Given the description of an element on the screen output the (x, y) to click on. 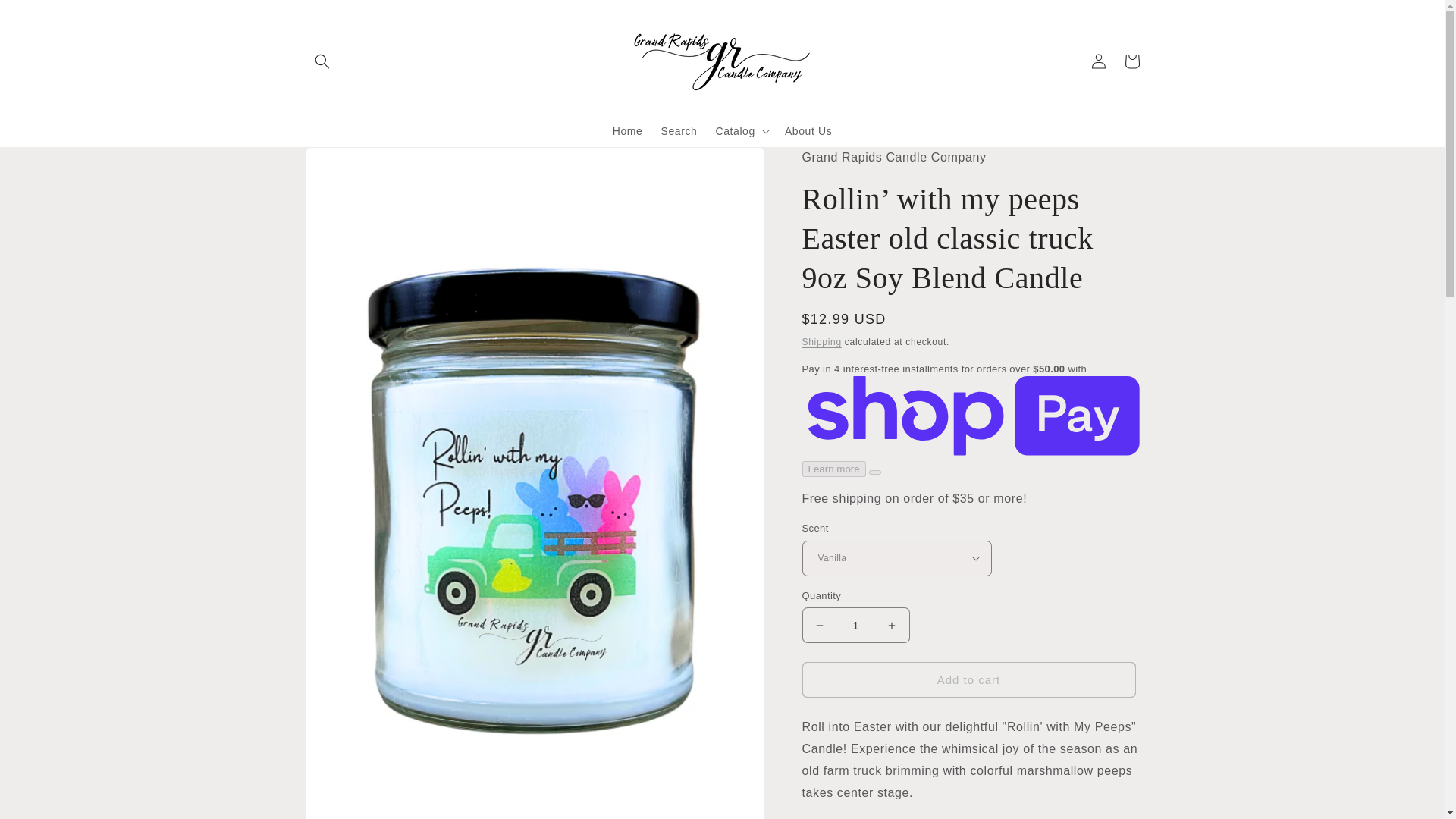
1 (856, 624)
Home (628, 131)
Search (678, 131)
Skip to content (45, 17)
